Given the description of an element on the screen output the (x, y) to click on. 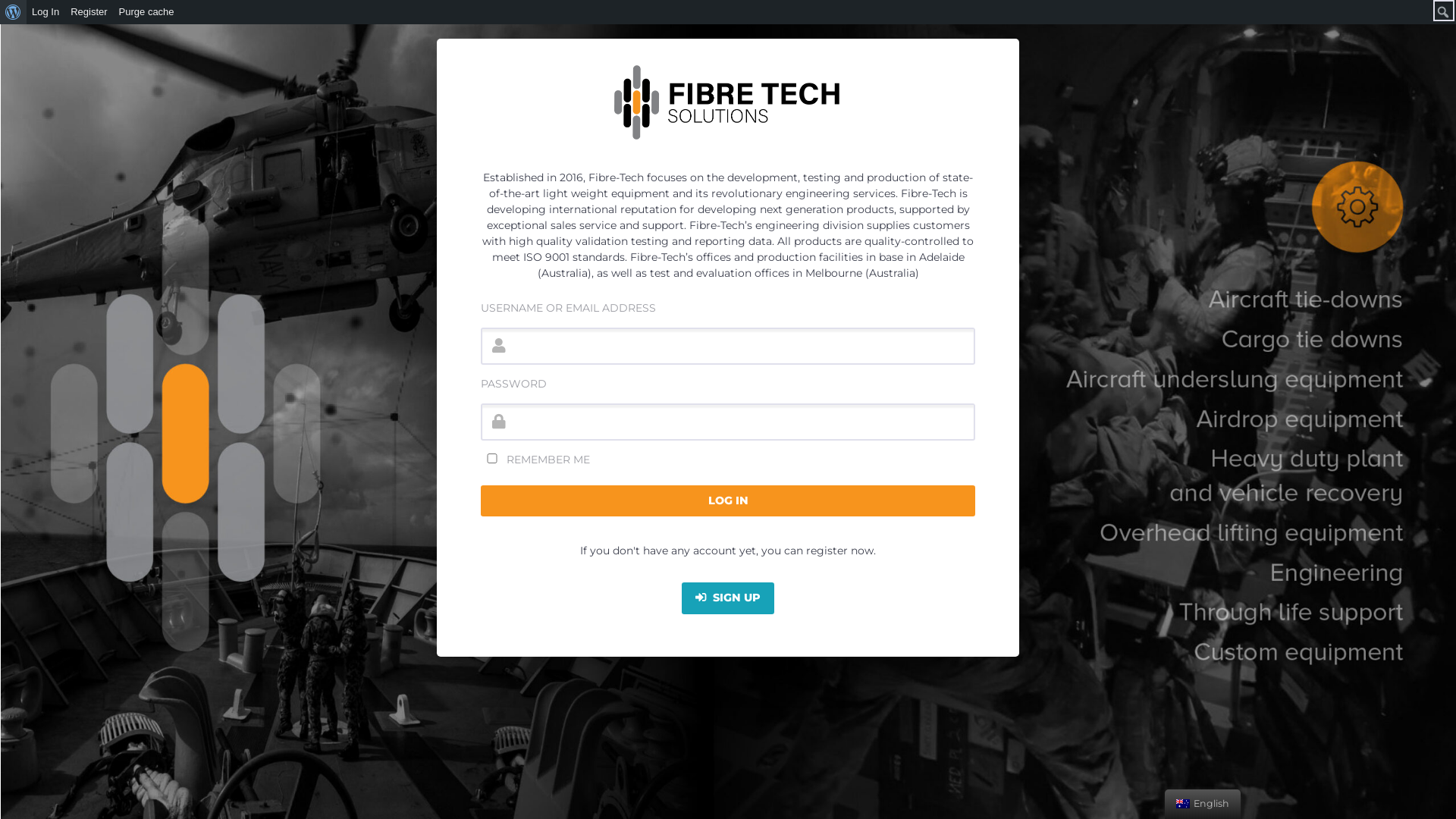
Log In Element type: text (45, 12)
Search Element type: text (15, 12)
SIGN UP Element type: text (727, 598)
Purge cache Element type: text (146, 12)
English Element type: hover (1182, 803)
Register Element type: text (88, 12)
Log In Element type: text (727, 501)
